Given the description of an element on the screen output the (x, y) to click on. 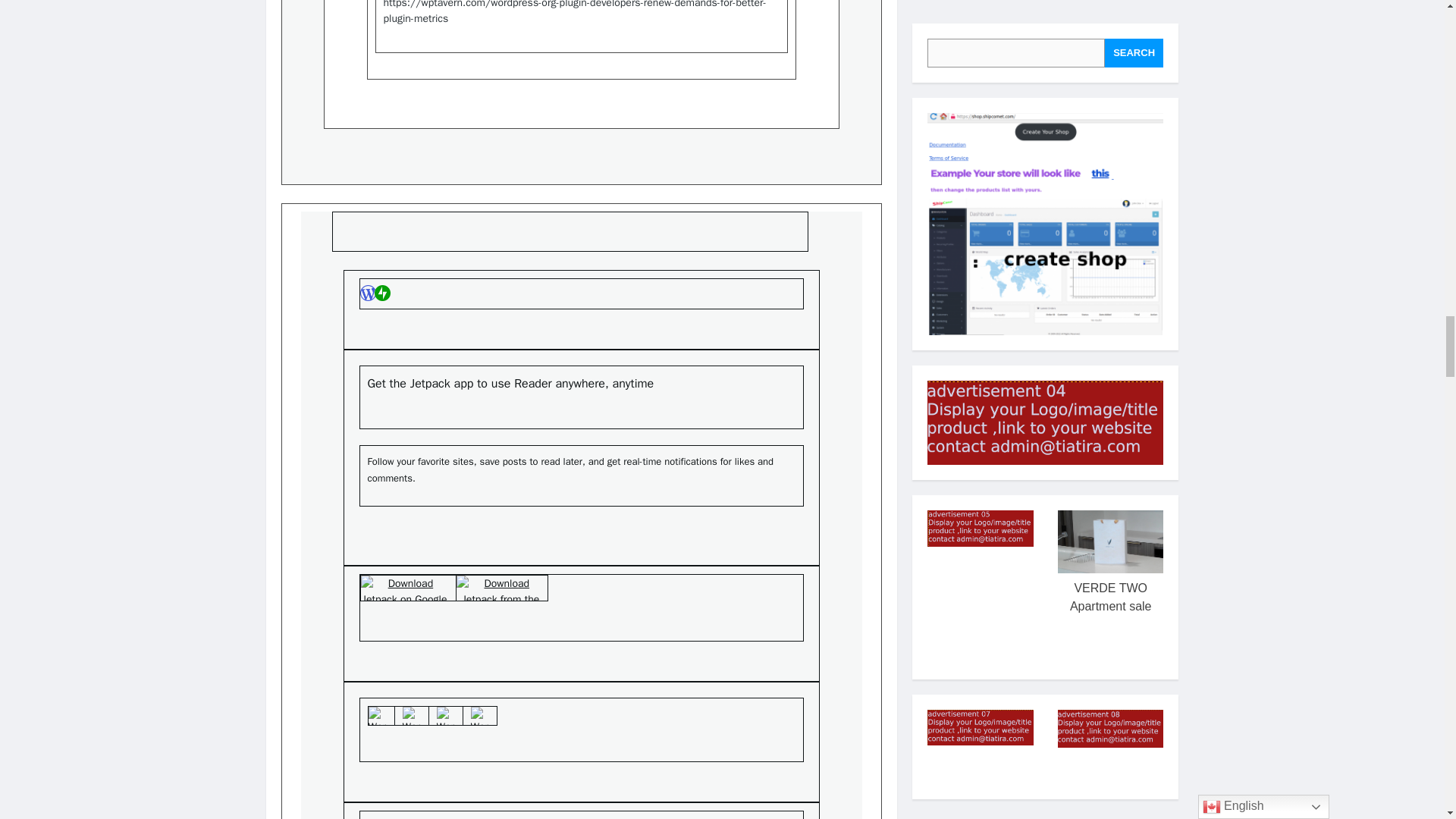
WordPress.com on Twitter (377, 715)
WordPress.com on Facebook (410, 715)
Download Jetpack from the App Store (500, 587)
WordPress.com on Instagram (445, 715)
Download Jetpack on Google Play (404, 587)
WordPress.com on YouTube (478, 715)
WordPress.com and Jetpack Logos (374, 293)
